Given the description of an element on the screen output the (x, y) to click on. 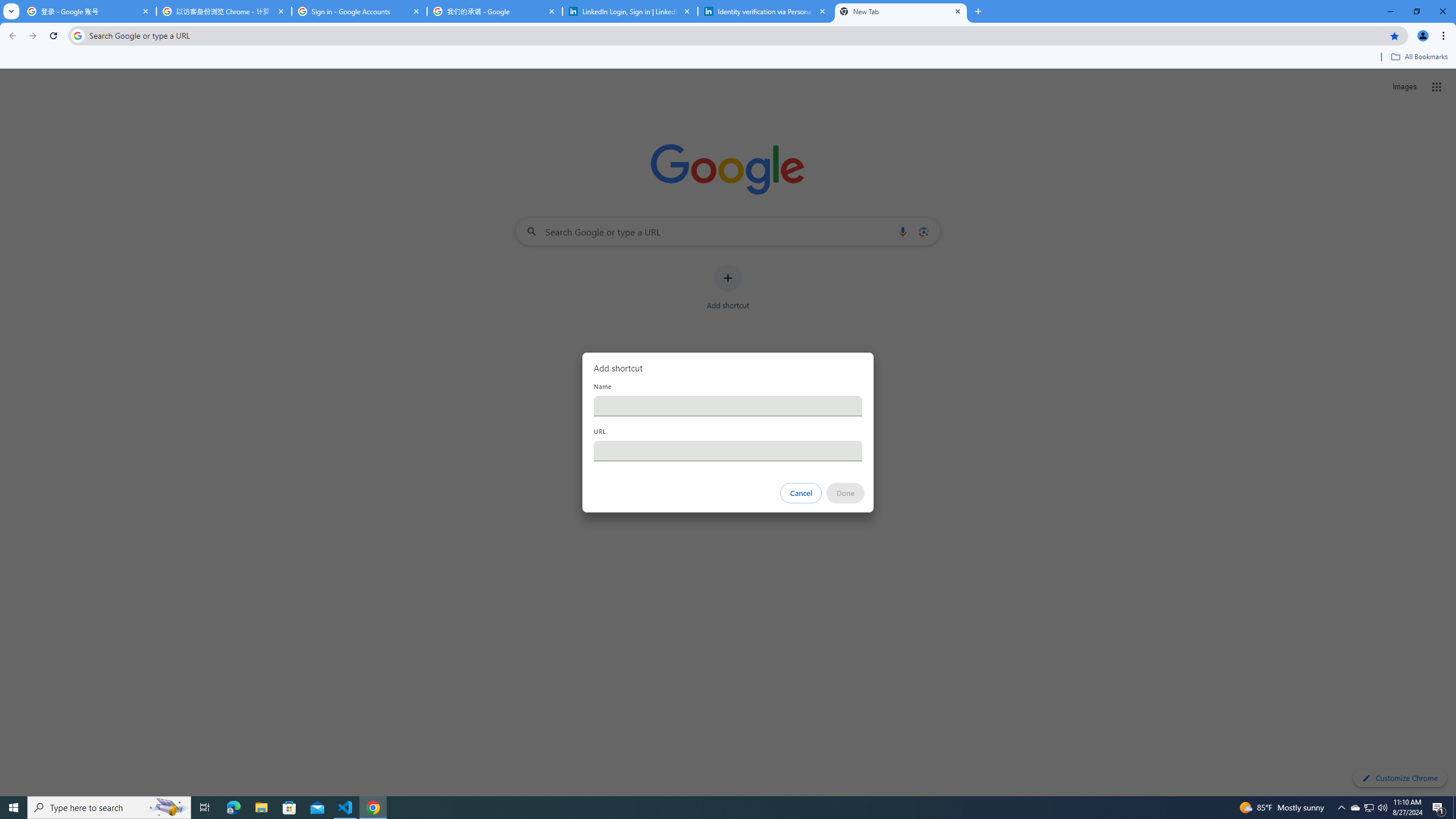
Bookmarks (728, 58)
Cancel (801, 493)
LinkedIn Login, Sign in | LinkedIn (630, 11)
Name (727, 405)
New Tab (901, 11)
Done (845, 493)
Identity verification via Persona | LinkedIn Help (765, 11)
